Given the description of an element on the screen output the (x, y) to click on. 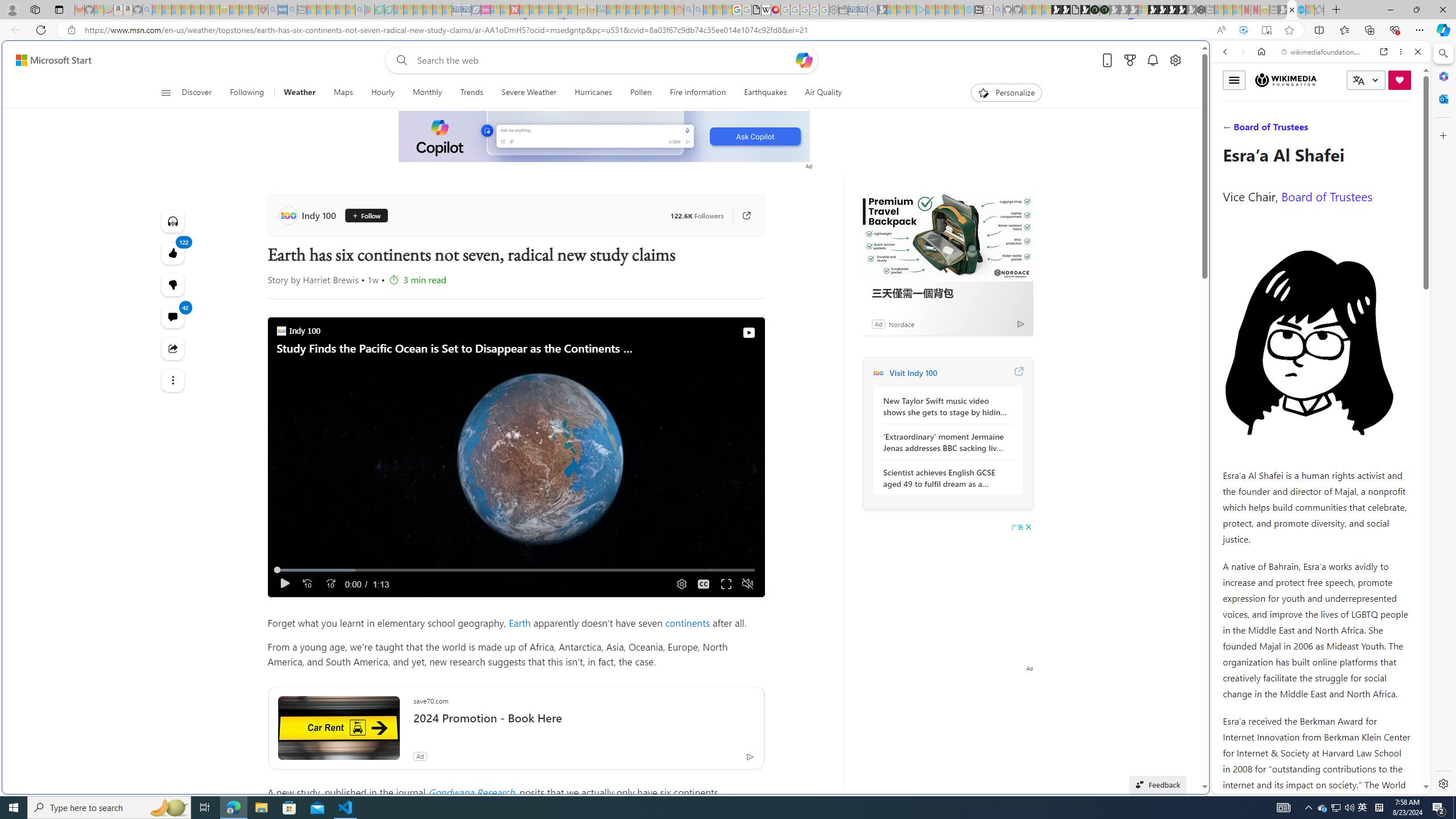
github - Search - Sleeping (997, 9)
Earthquakes (765, 92)
Gondwana Research (471, 791)
SEARCH TOOLS (1350, 130)
Terms of Use Agreement - Sleeping (378, 9)
